Given the description of an element on the screen output the (x, y) to click on. 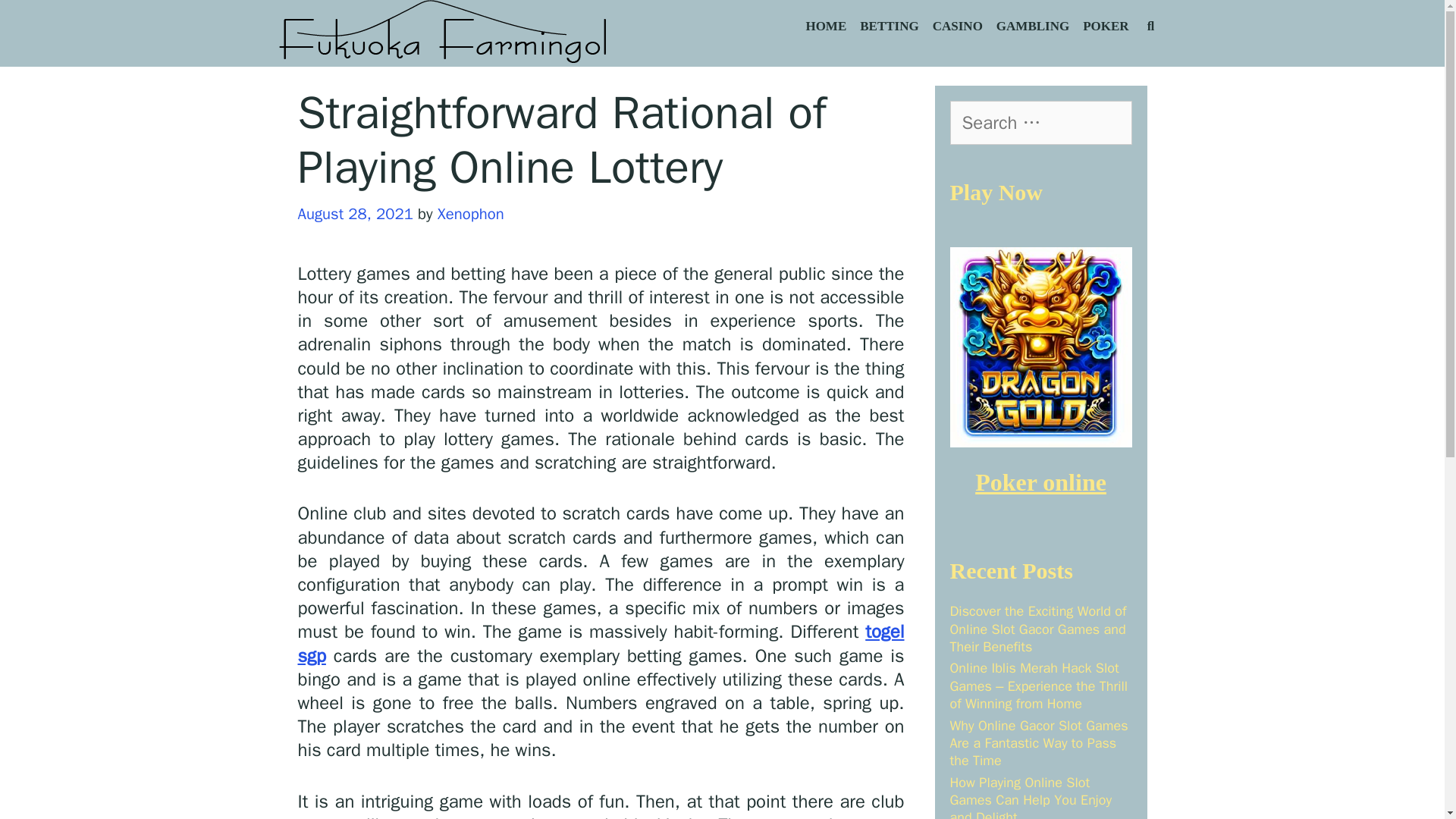
CASINO (958, 26)
GAMBLING (1032, 26)
Fukuoka Farmingol (443, 31)
HOME (825, 26)
Poker online (1040, 482)
BETTING (888, 26)
August 28, 2021 (354, 213)
POKER (1105, 26)
Search (183, 26)
